Given the description of an element on the screen output the (x, y) to click on. 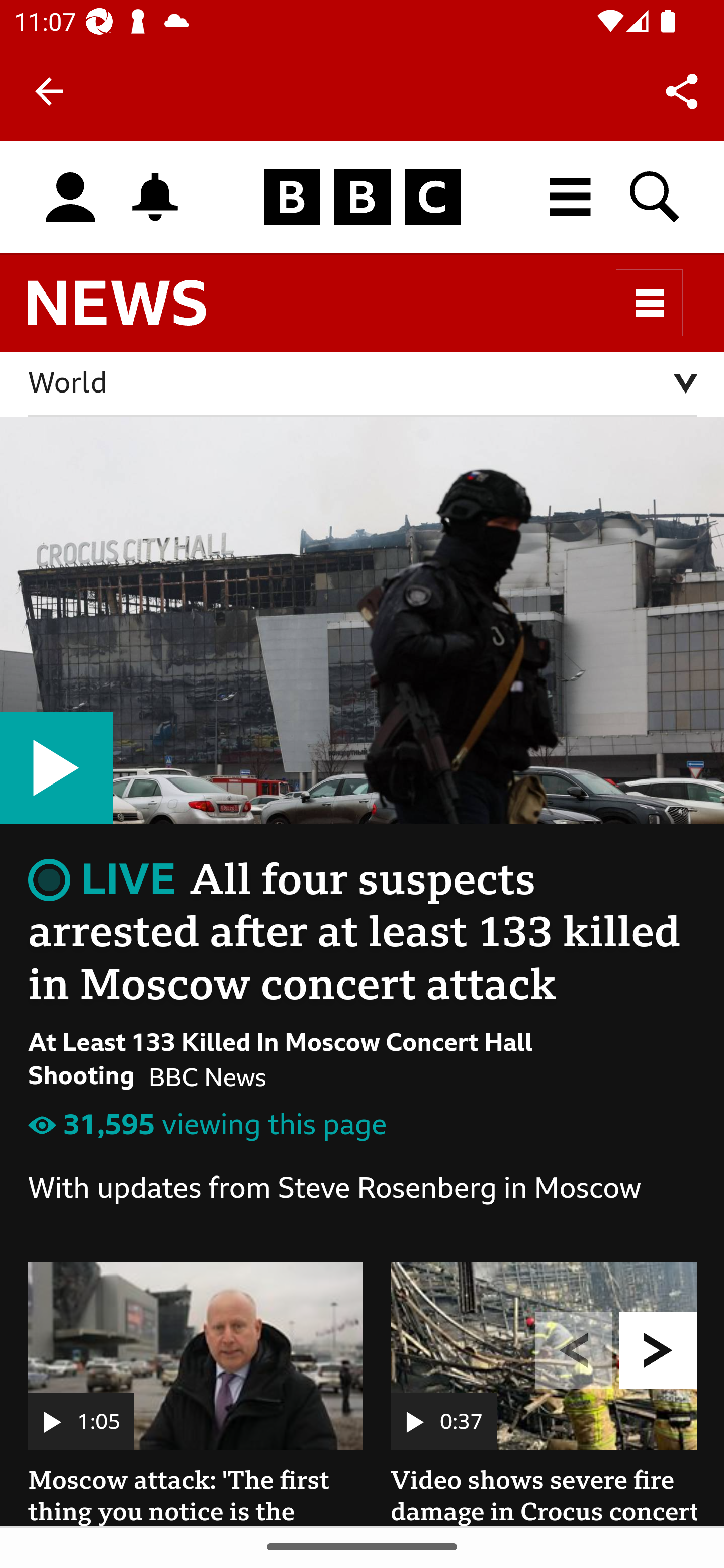
Back (49, 91)
Share (681, 90)
